Given the description of an element on the screen output the (x, y) to click on. 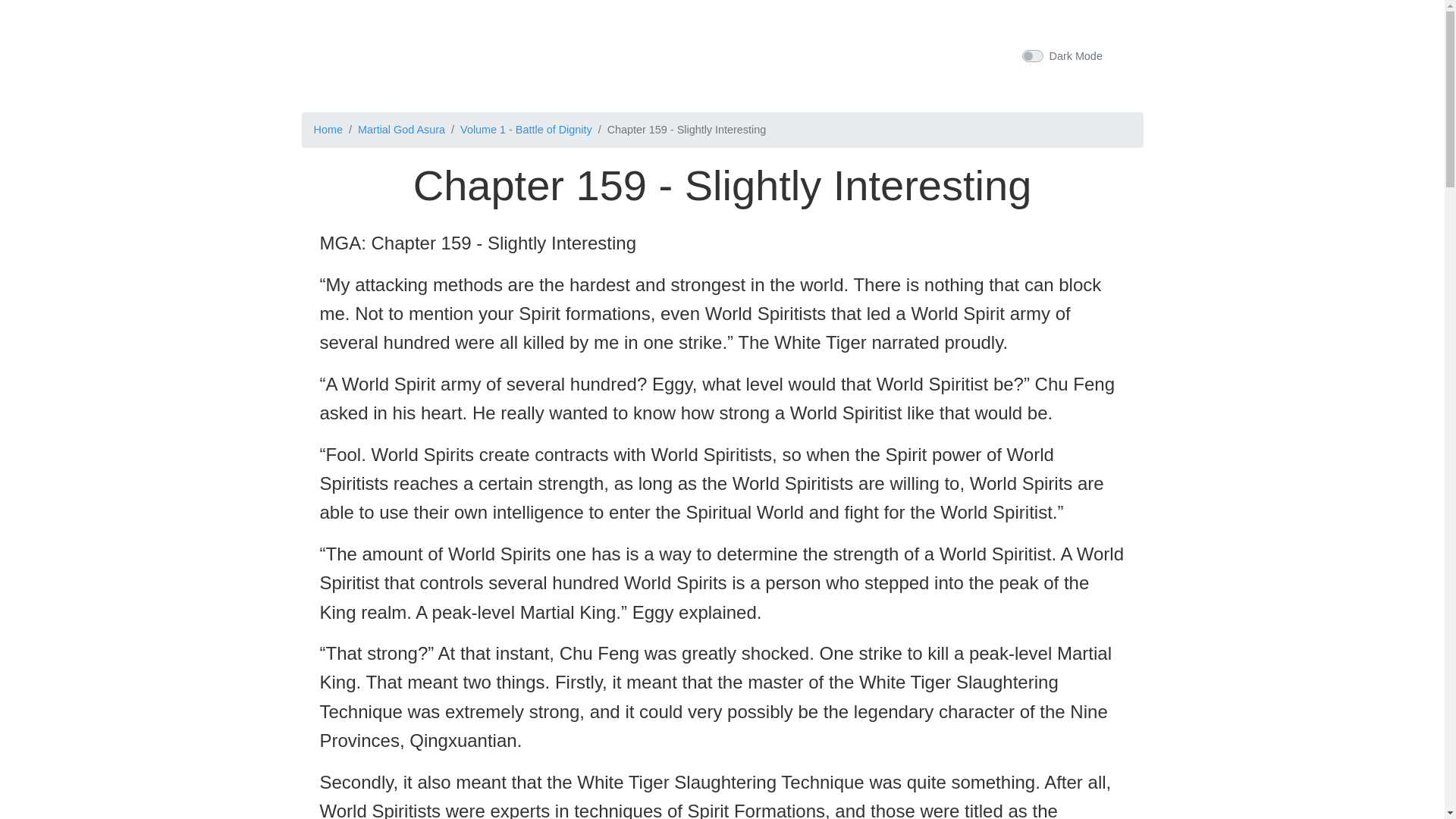
Free Novel Online (716, 53)
Martial God Asura (401, 129)
Volume 1 - Battle of Dignity (526, 129)
Home (328, 129)
